Given the description of an element on the screen output the (x, y) to click on. 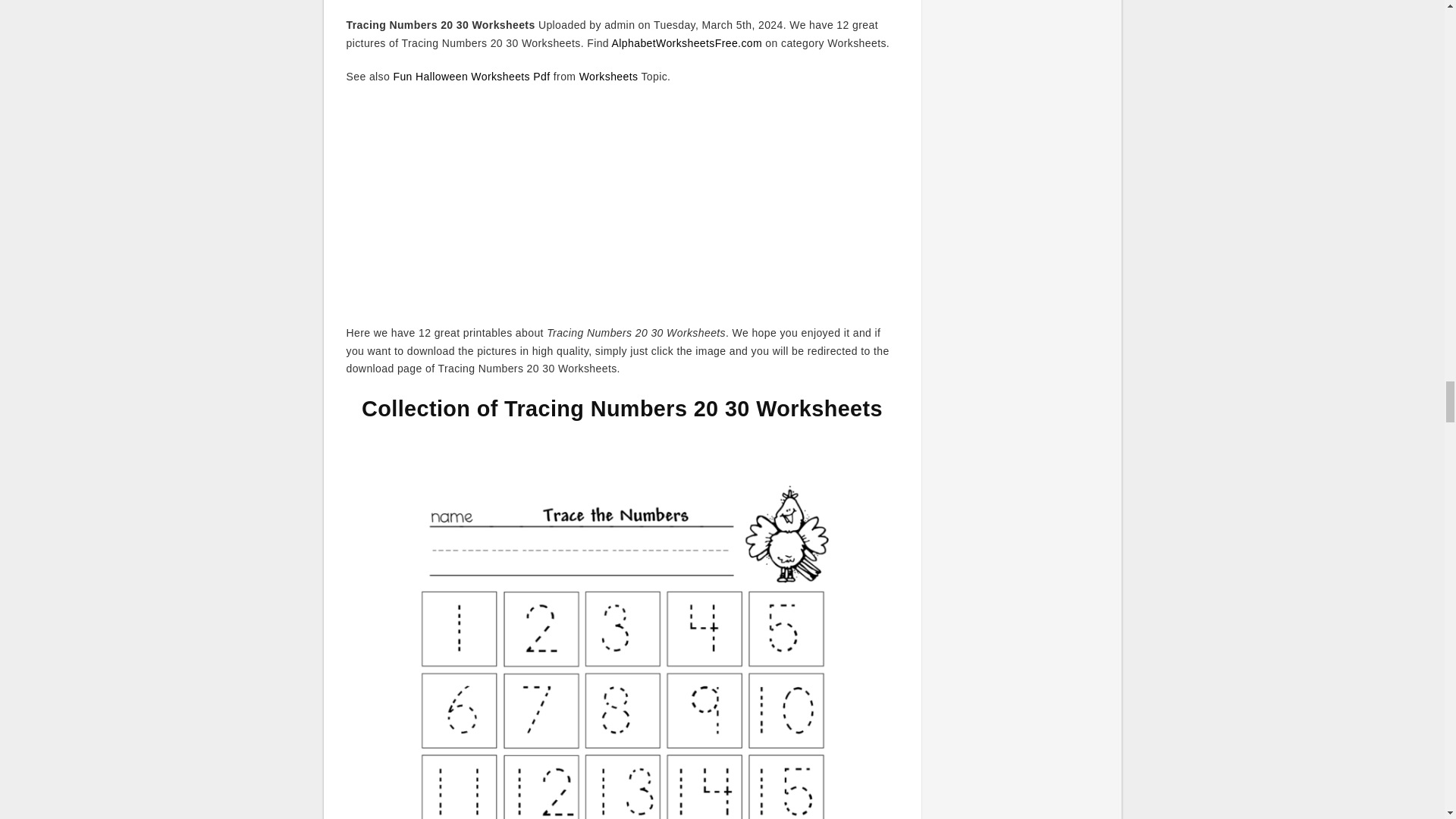
Worksheets (609, 76)
AlphabetWorksheetsFree.com (686, 42)
AlphabetWorksheetsFree.com (686, 42)
Fun Halloween Worksheets Pdf (471, 76)
